Given the description of an element on the screen output the (x, y) to click on. 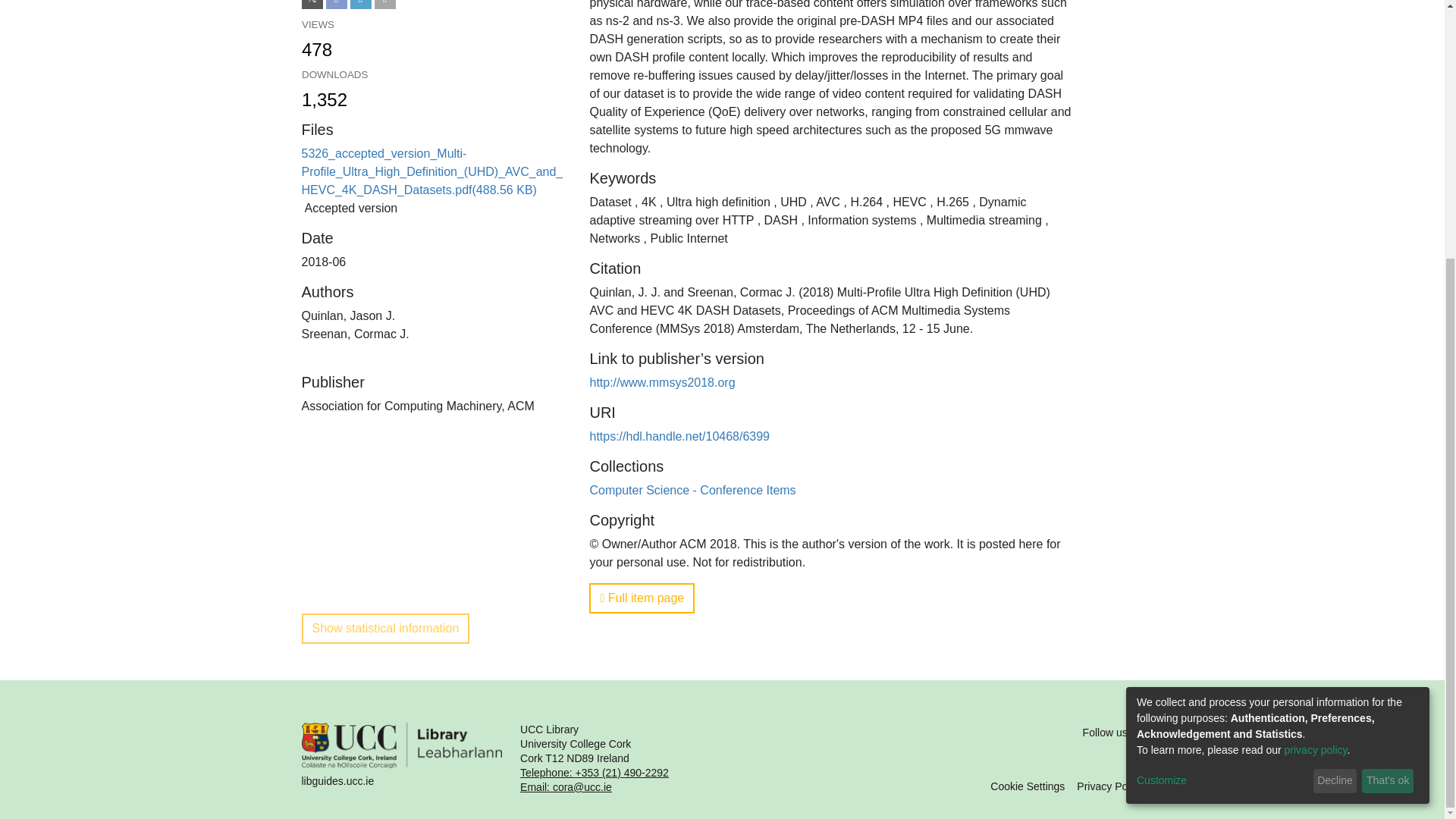
Show statistical information (385, 628)
privacy policy (1316, 381)
Privacy Policy (434, 40)
Computer Science - Conference Items (1109, 786)
Decline (691, 490)
Full item page (434, 40)
That's ok (1334, 412)
